Given the description of an element on the screen output the (x, y) to click on. 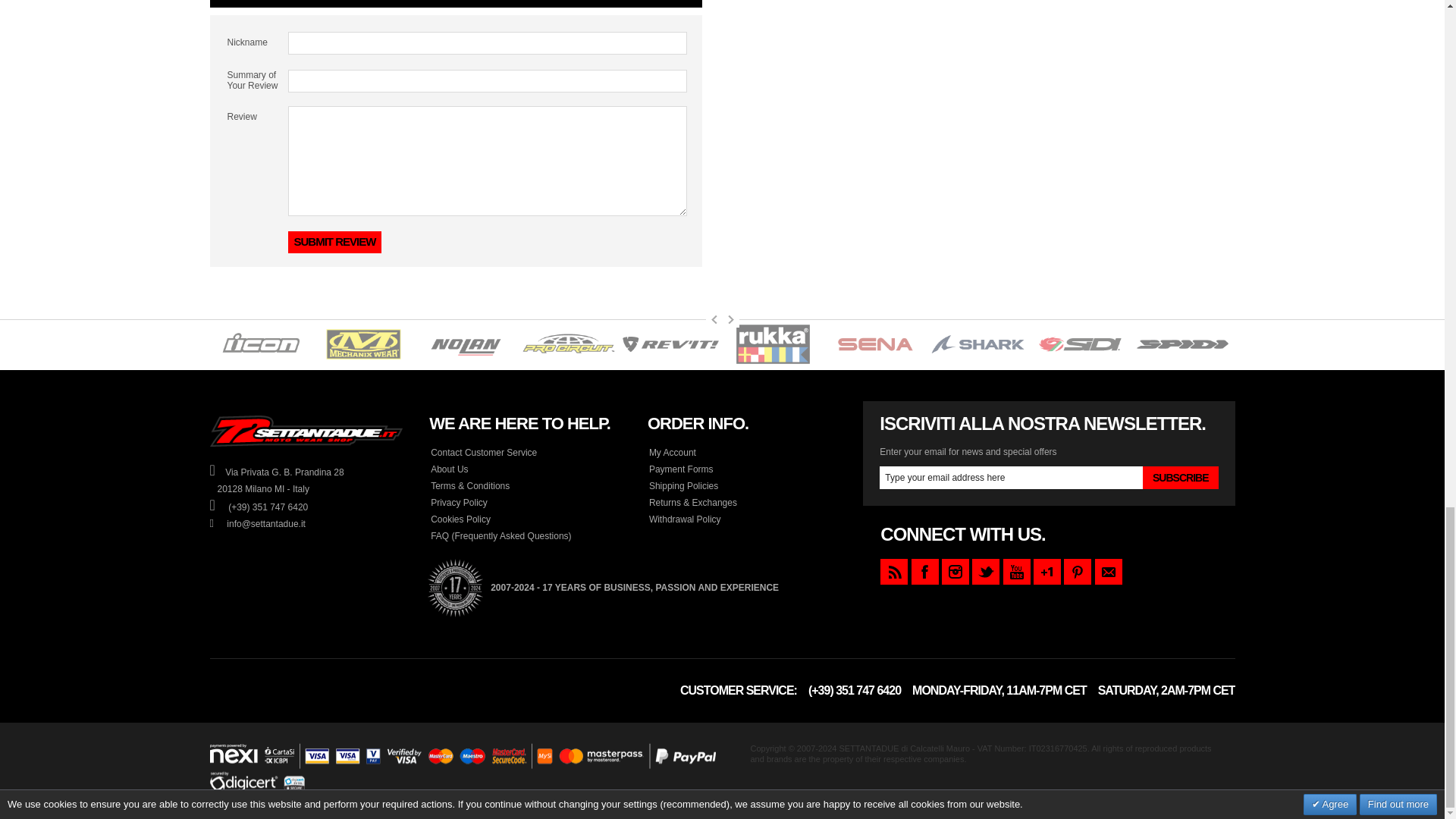
Type your email address here (1010, 477)
